Given the description of an element on the screen output the (x, y) to click on. 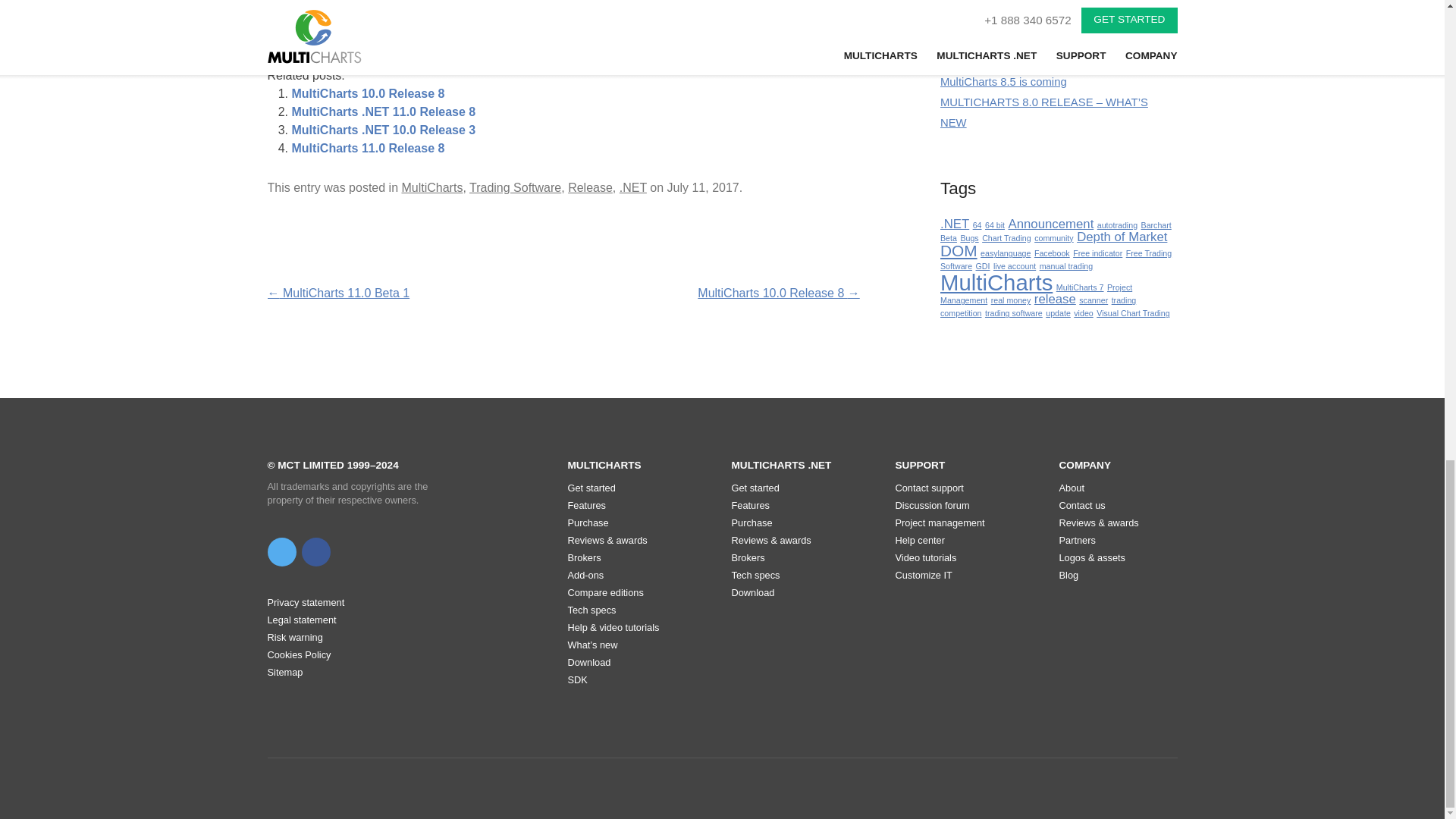
MultiCharts .NET 11.0 Release 8 (383, 111)
IQFeed and MultiCharts Cumulative Delta Update (1044, 2)
MultiCharts 10.0 Release 8 (367, 92)
MultiCharts .NET 10.0 Release 3 (383, 129)
On Facebook (315, 551)
MultiCharts 8.5 is coming (1003, 81)
MULTICHARTS 7 BETA 4 RELEASE (1032, 60)
MULTICHARTS 7 BETA 1 RELEASE (1032, 19)
MultiCharts 7 pre-alpha (998, 39)
On Twitter (280, 551)
MultiCharts 11.0 Release 8 (367, 147)
